Given the description of an element on the screen output the (x, y) to click on. 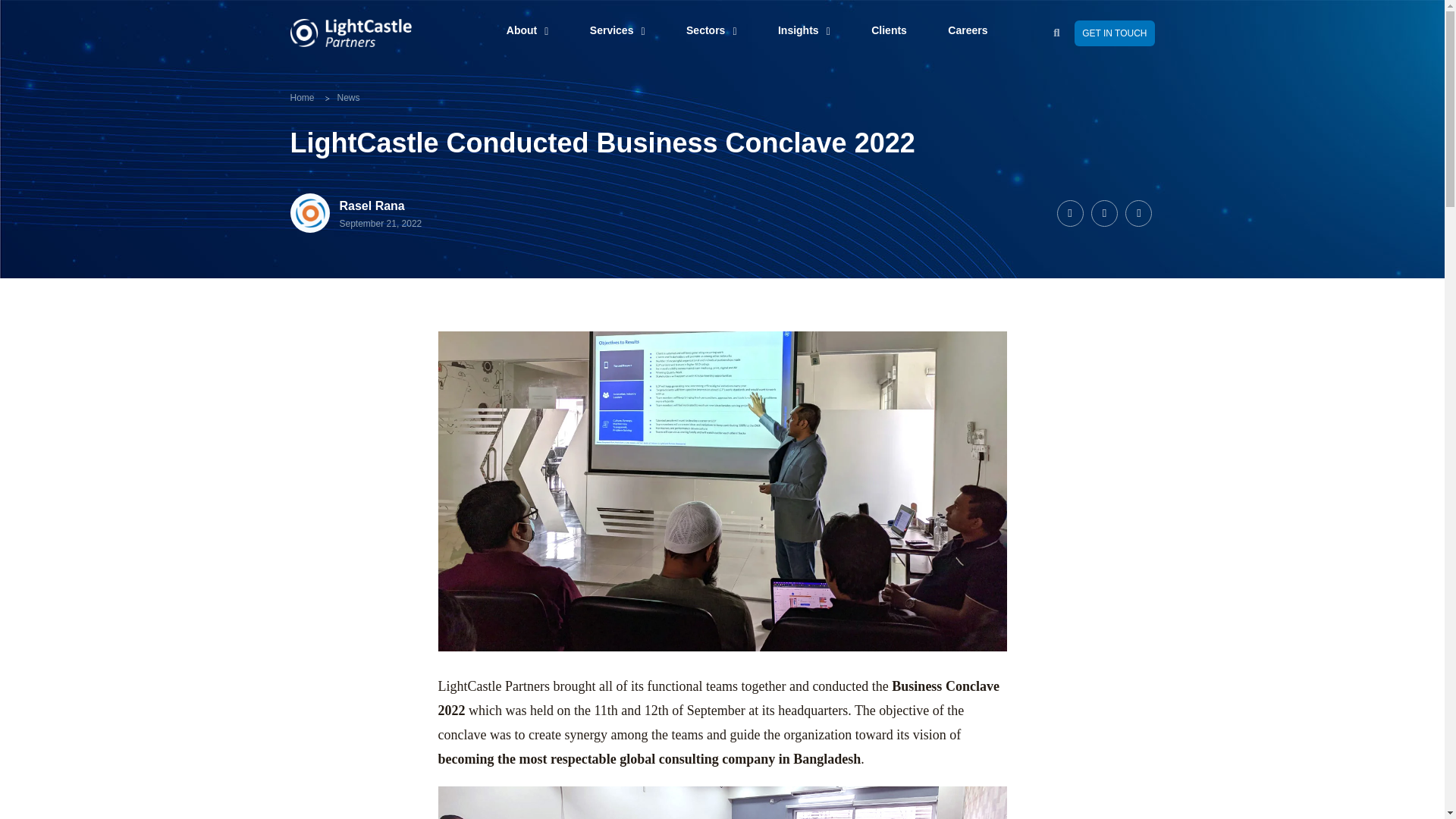
Share With LinkedIn (1138, 212)
Share with Facebook (1070, 212)
Share with LinkedIn (1104, 212)
